Given the description of an element on the screen output the (x, y) to click on. 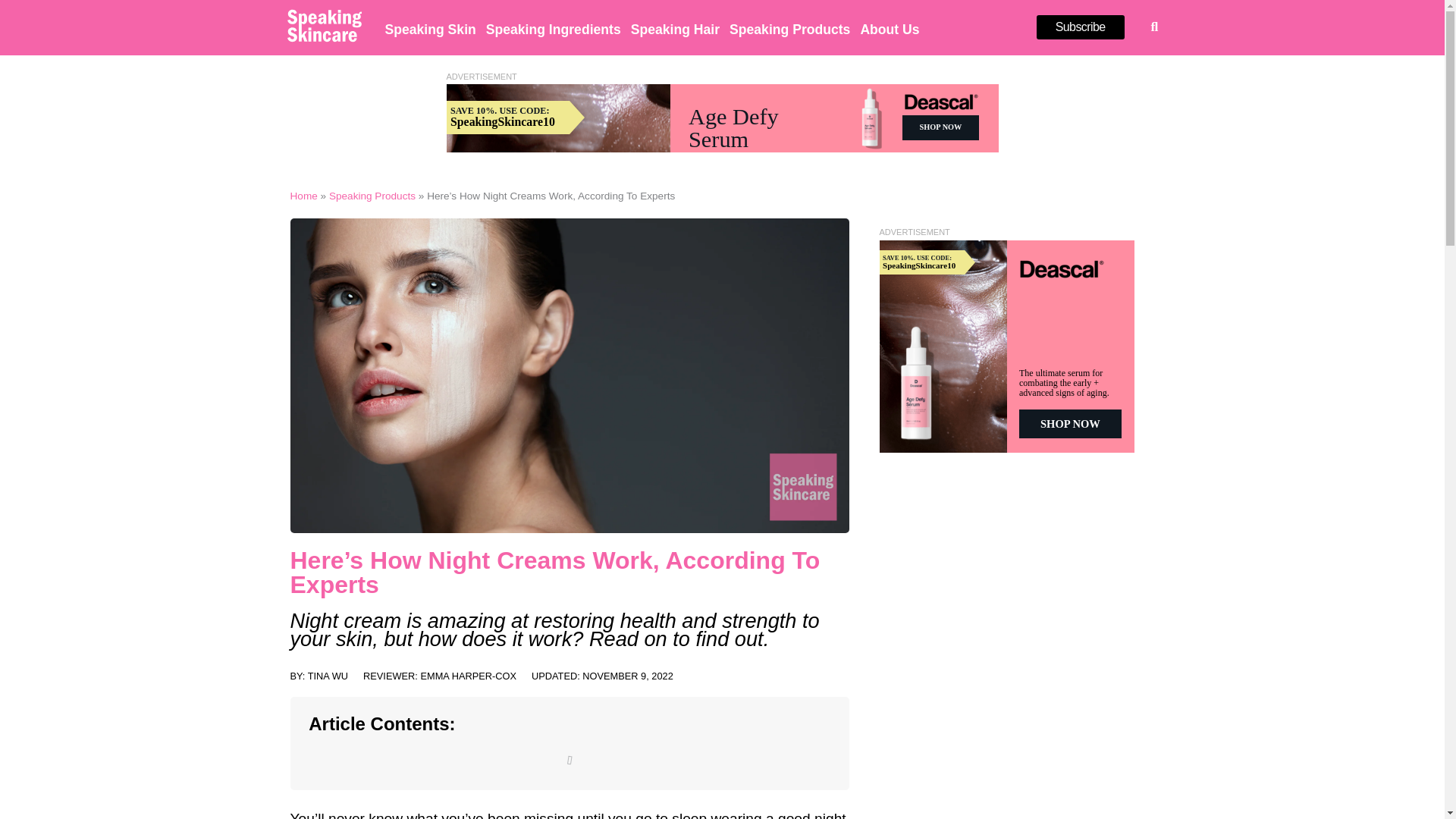
Speaking Skin (430, 29)
Speaking Hair (674, 29)
Speaking Ingredients (553, 29)
Speaking Products (789, 29)
About Us (889, 29)
